Given the description of an element on the screen output the (x, y) to click on. 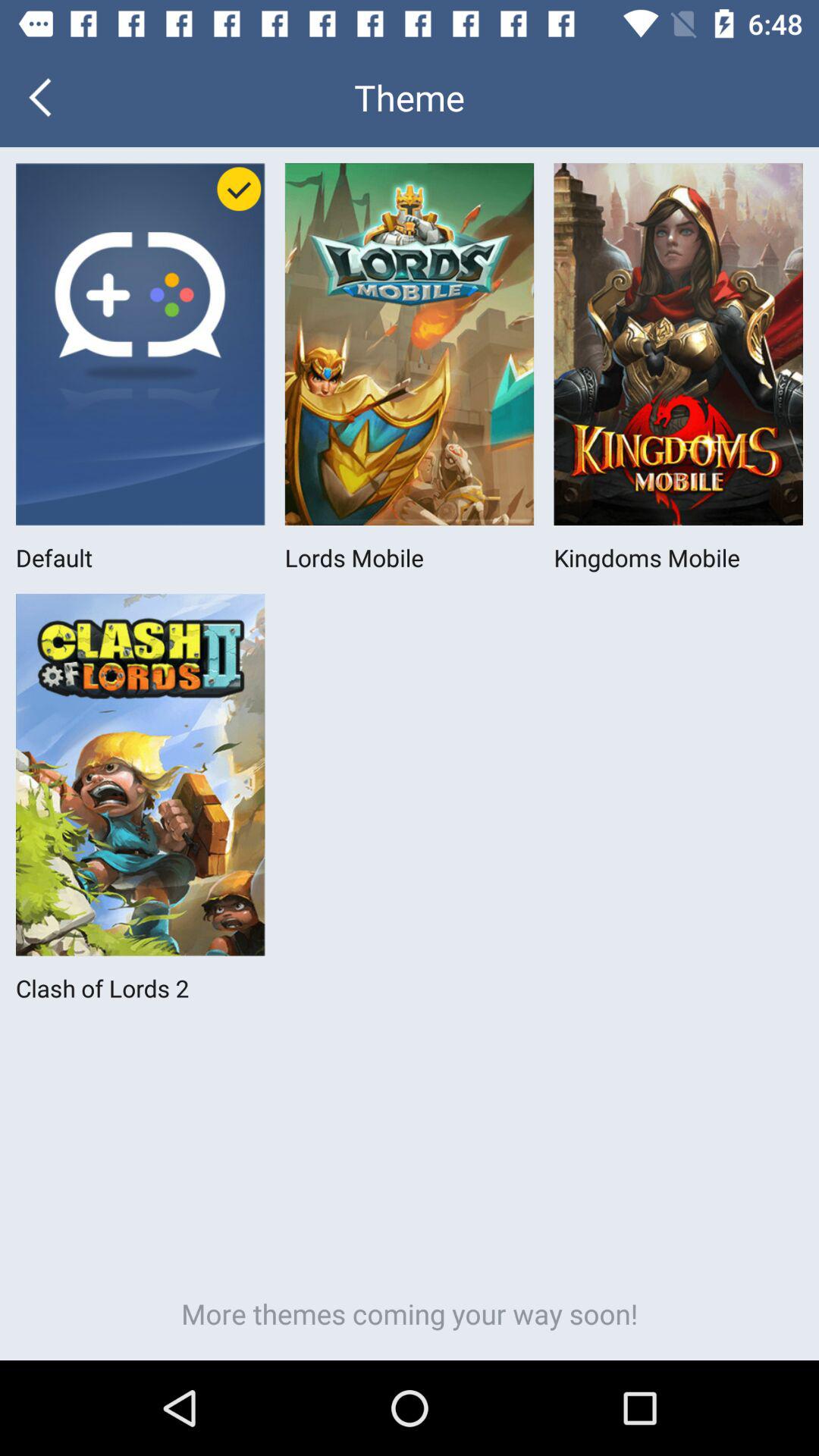
flip to the theme (409, 97)
